Given the description of an element on the screen output the (x, y) to click on. 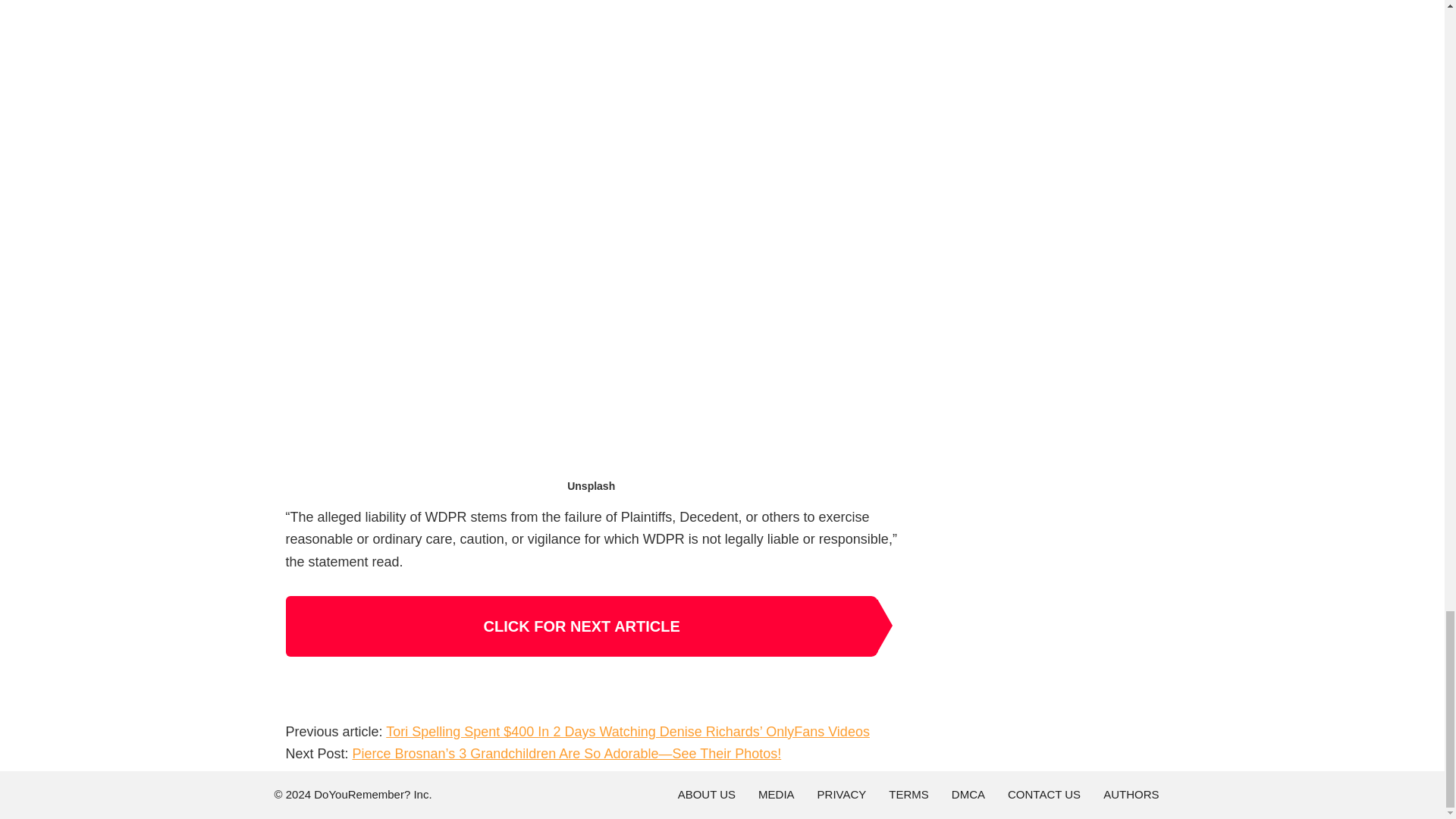
PRIVACY (841, 794)
ABOUT US (706, 794)
CLICK FOR NEXT ARTICLE (581, 626)
MEDIA (775, 794)
